Given the description of an element on the screen output the (x, y) to click on. 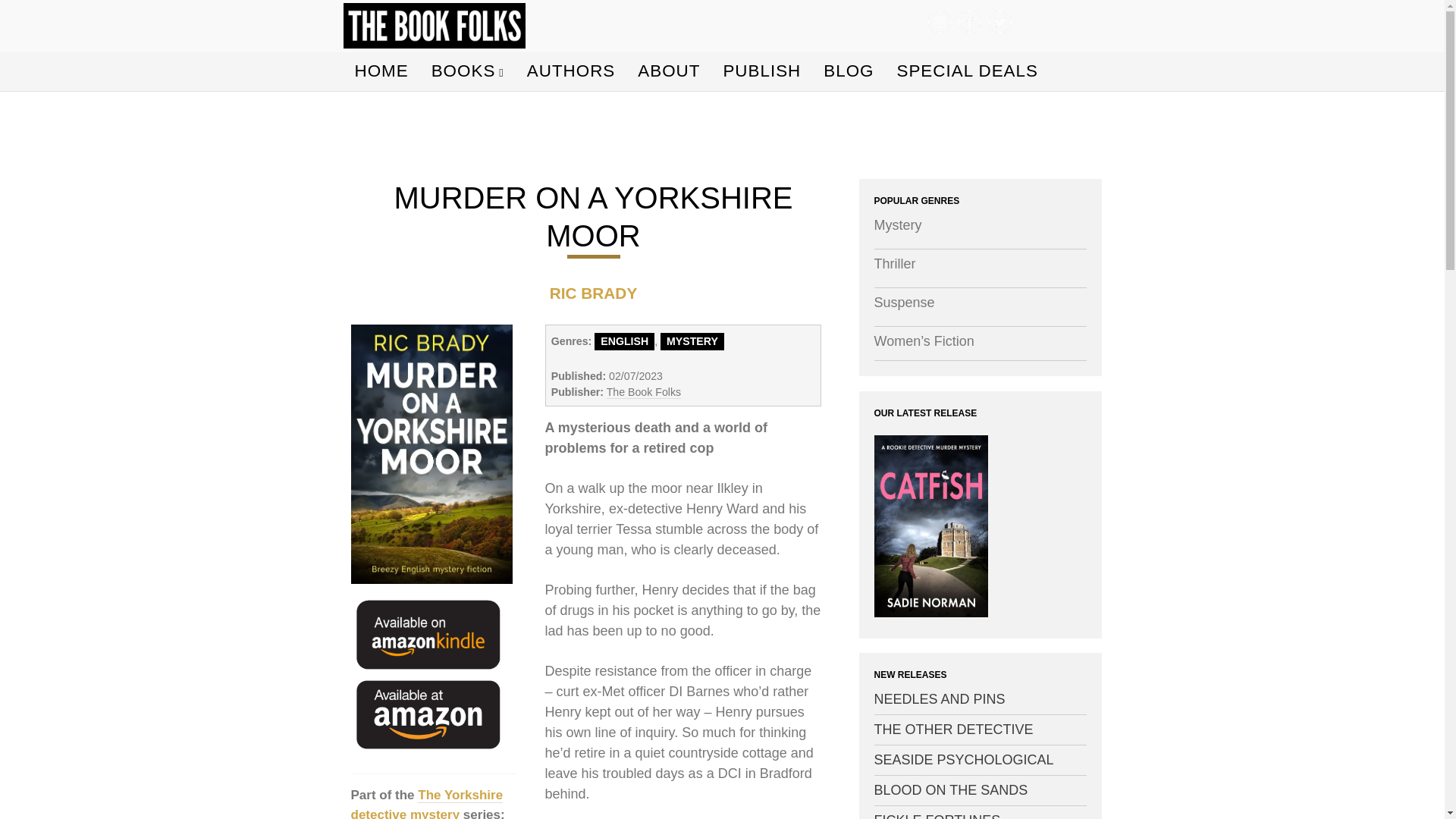
HOME (382, 71)
THE BOOK FOLKS (586, 35)
The Book Folks on Facebook (969, 21)
